Given the description of an element on the screen output the (x, y) to click on. 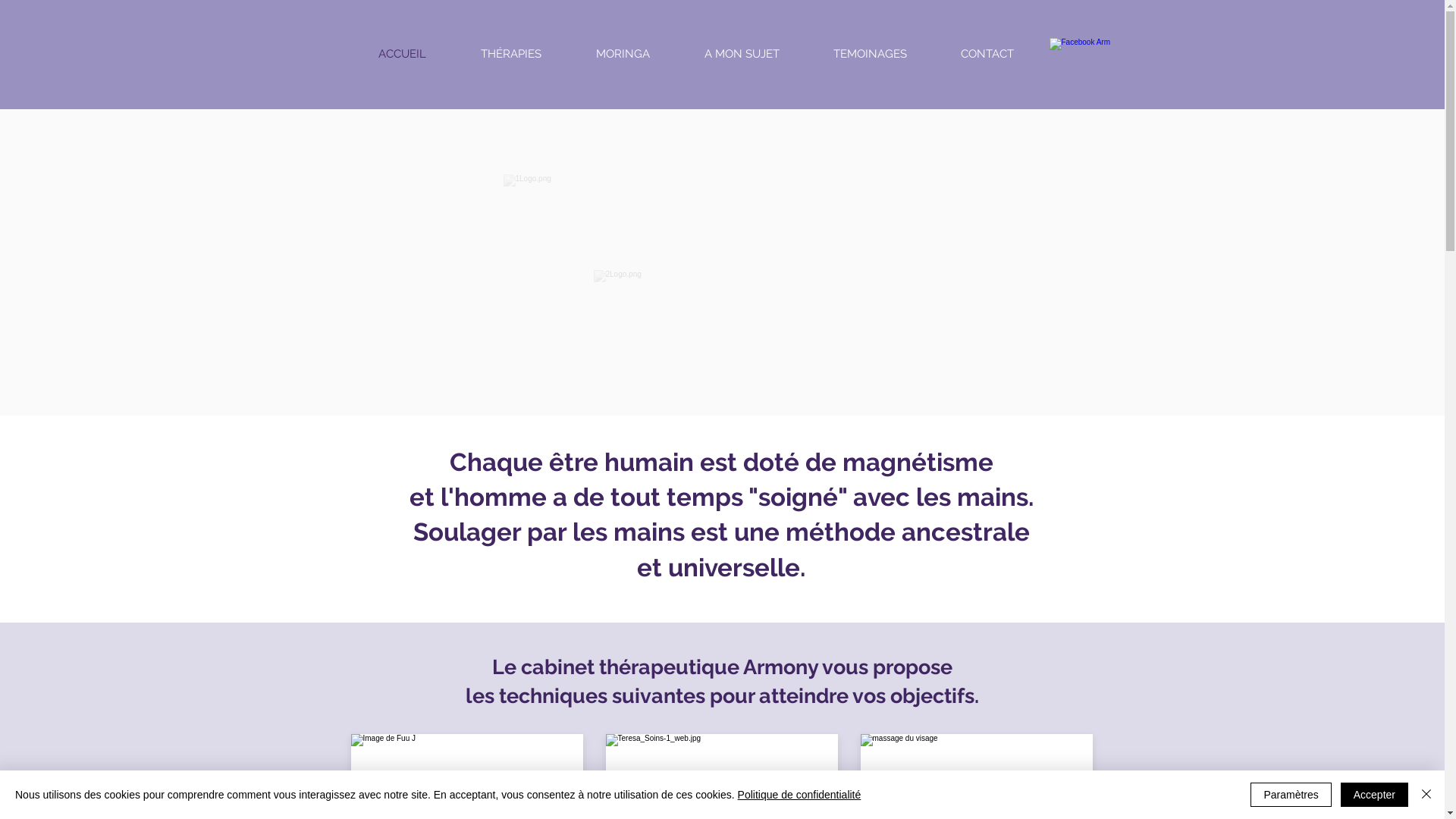
MORINGA Element type: text (622, 53)
CONTACT Element type: text (987, 53)
Accepter Element type: text (1374, 794)
TEMOINAGES Element type: text (870, 53)
Armony Element type: hover (667, 222)
ACCUEIL Element type: text (401, 53)
corps&esprit Element type: hover (766, 303)
A MON SUJET Element type: text (741, 53)
